Given the description of an element on the screen output the (x, y) to click on. 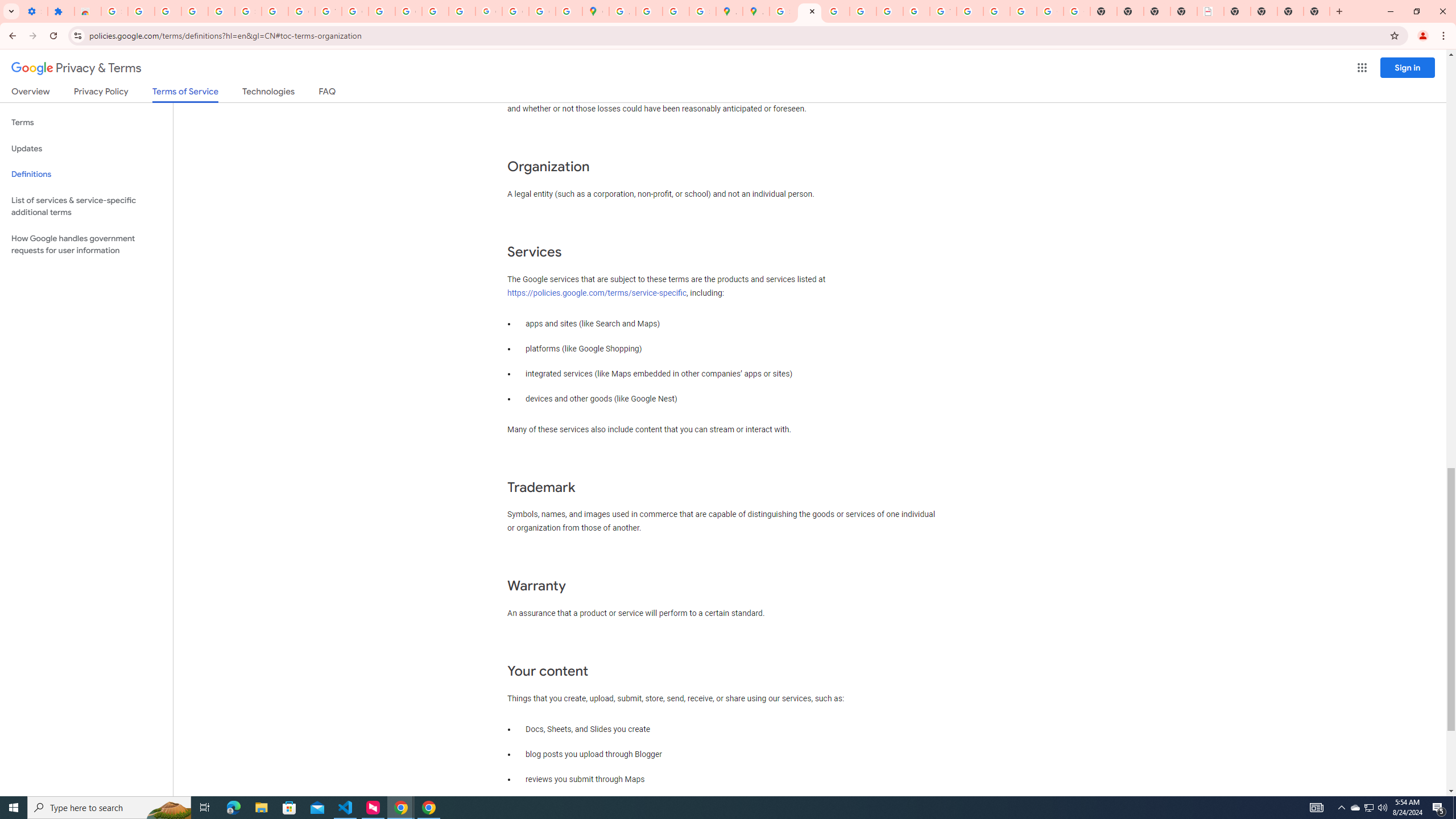
https://scholar.google.com/ (382, 11)
Sign in - Google Accounts (248, 11)
Google Maps (595, 11)
Technologies (268, 93)
Learn how to find your photos - Google Photos Help (194, 11)
New Tab (1316, 11)
New Tab (1290, 11)
Sign in - Google Accounts (114, 11)
Privacy Policy (100, 93)
Sign in (1407, 67)
